Given the description of an element on the screen output the (x, y) to click on. 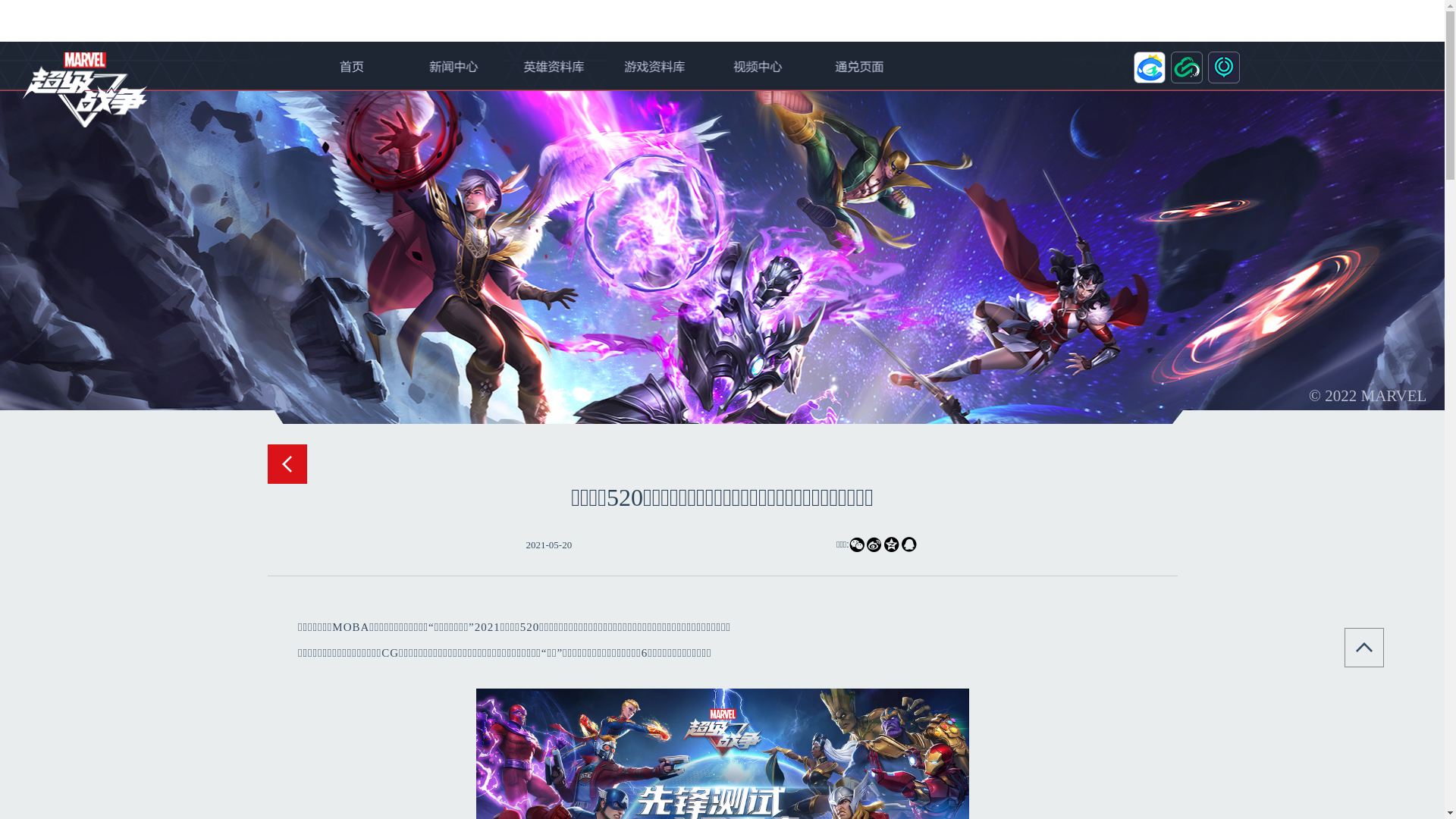
logo Element type: hover (84, 89)
